Given the description of an element on the screen output the (x, y) to click on. 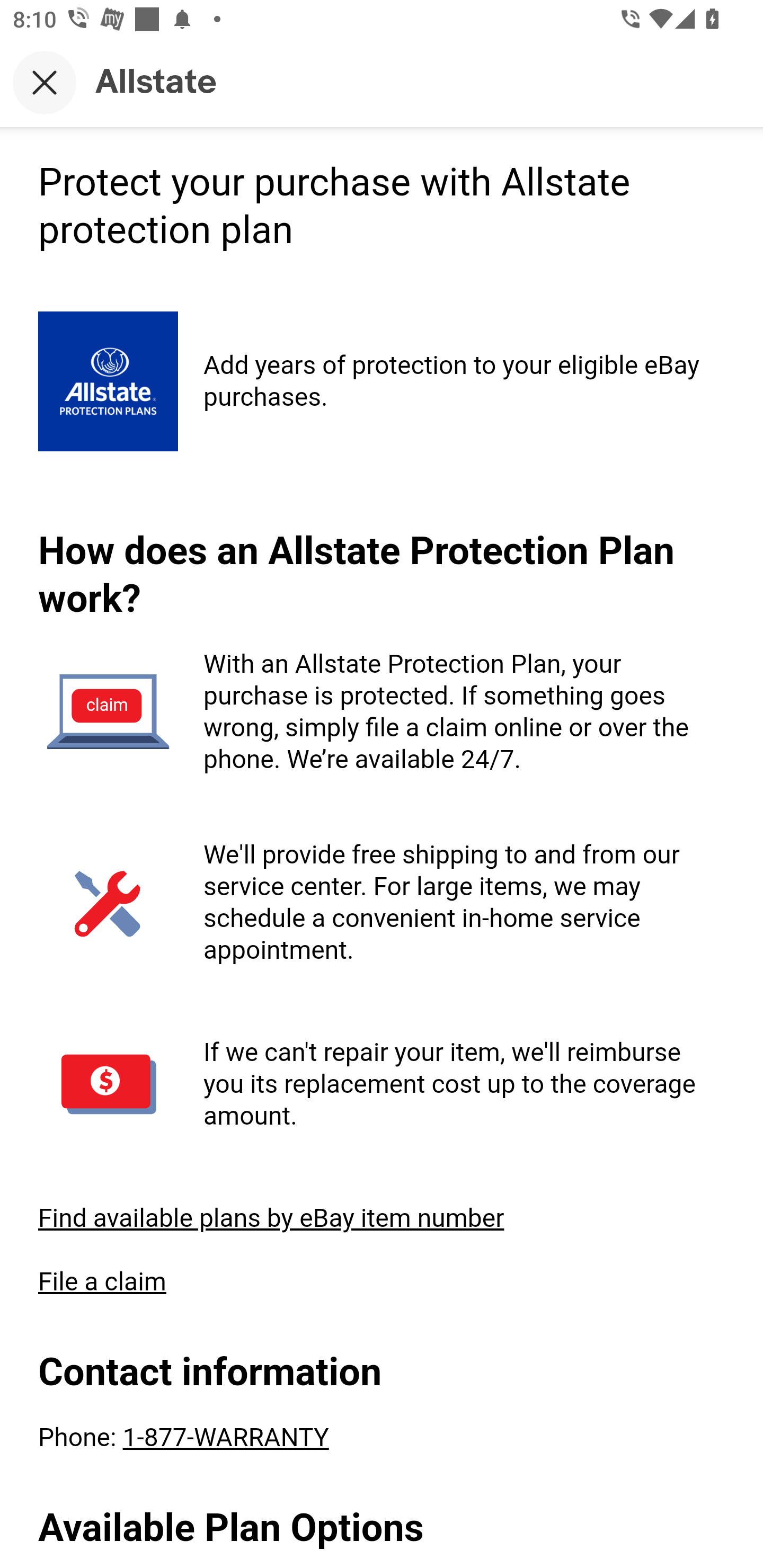
Close (44, 82)
Find available plans by eBay item number (271, 1216)
File a claim (102, 1280)
1-877-WARRANTY (225, 1435)
